Given the description of an element on the screen output the (x, y) to click on. 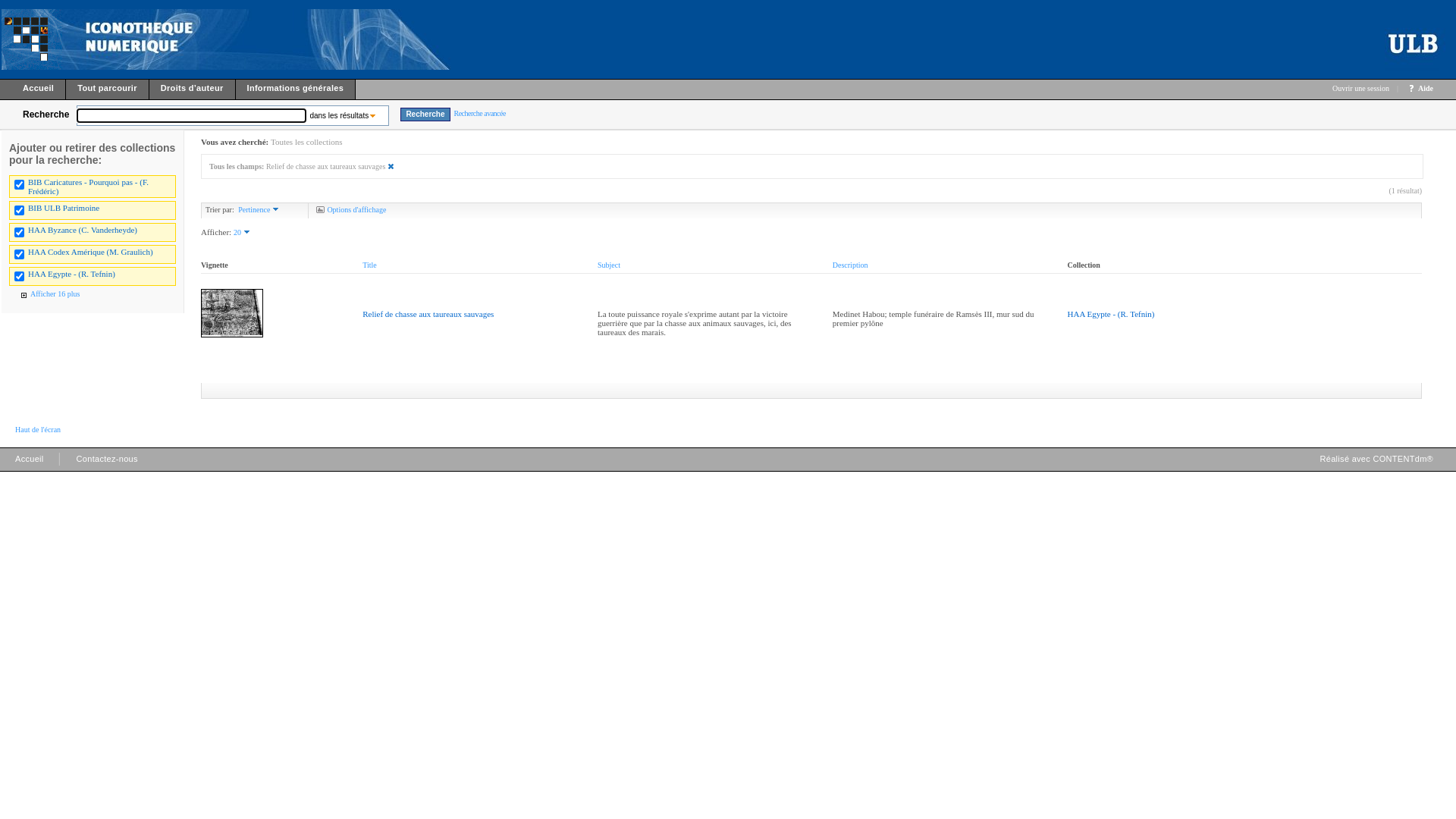
Accueil Element type: text (29, 462)
Subject Element type: text (608, 264)
Description Element type: text (850, 264)
Title Element type: text (369, 264)
BIB ULB Patrimoine Element type: text (63, 207)
ICONOTHEQUE NUMERIQUE Element type: hover (261, 39)
Ouvrir une session Element type: text (1360, 88)
Contactez-nous Element type: text (107, 462)
Options d'affichage Element type: text (349, 209)
20 Element type: text (243, 232)
HAA Byzance (C. Vanderheyde) Element type: text (82, 229)
Afficher 16 plus Element type: text (48, 293)
HAA Egypte - (R. Tefnin) Element type: text (71, 273)
Pertinence Element type: text (260, 209)
Aide Element type: text (1425, 88)
Tout parcourir Element type: text (107, 91)
Accueil Element type: text (32, 91)
Relief de chasse aux taureaux sauvages Element type: text (427, 313)
ICONOTHEQUE NUMERIQUE Element type: hover (31, 39)
HAA Egypte - (R. Tefnin) Element type: text (1110, 313)
